Given the description of an element on the screen output the (x, y) to click on. 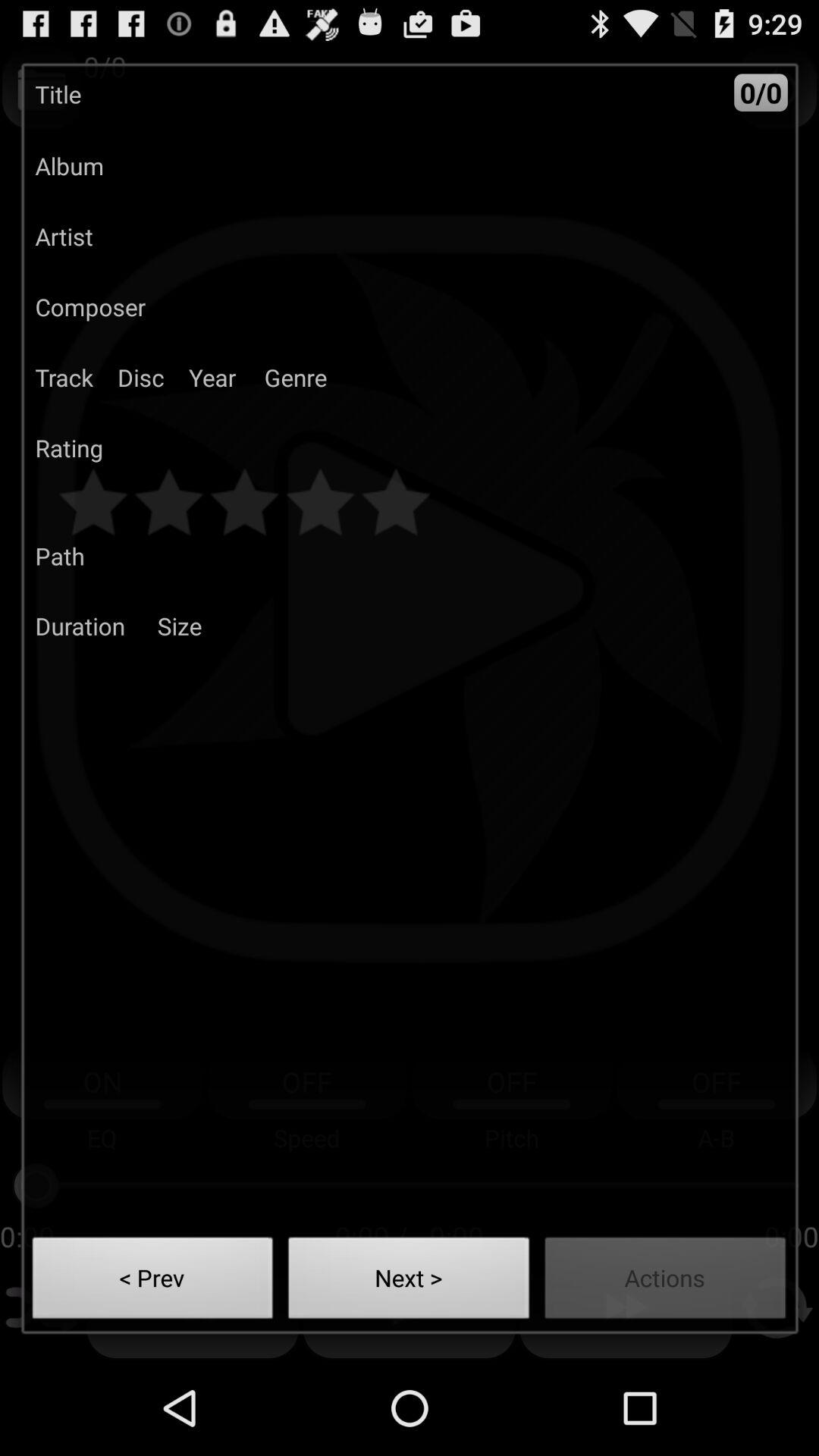
tap item next to next > (665, 1282)
